Given the description of an element on the screen output the (x, y) to click on. 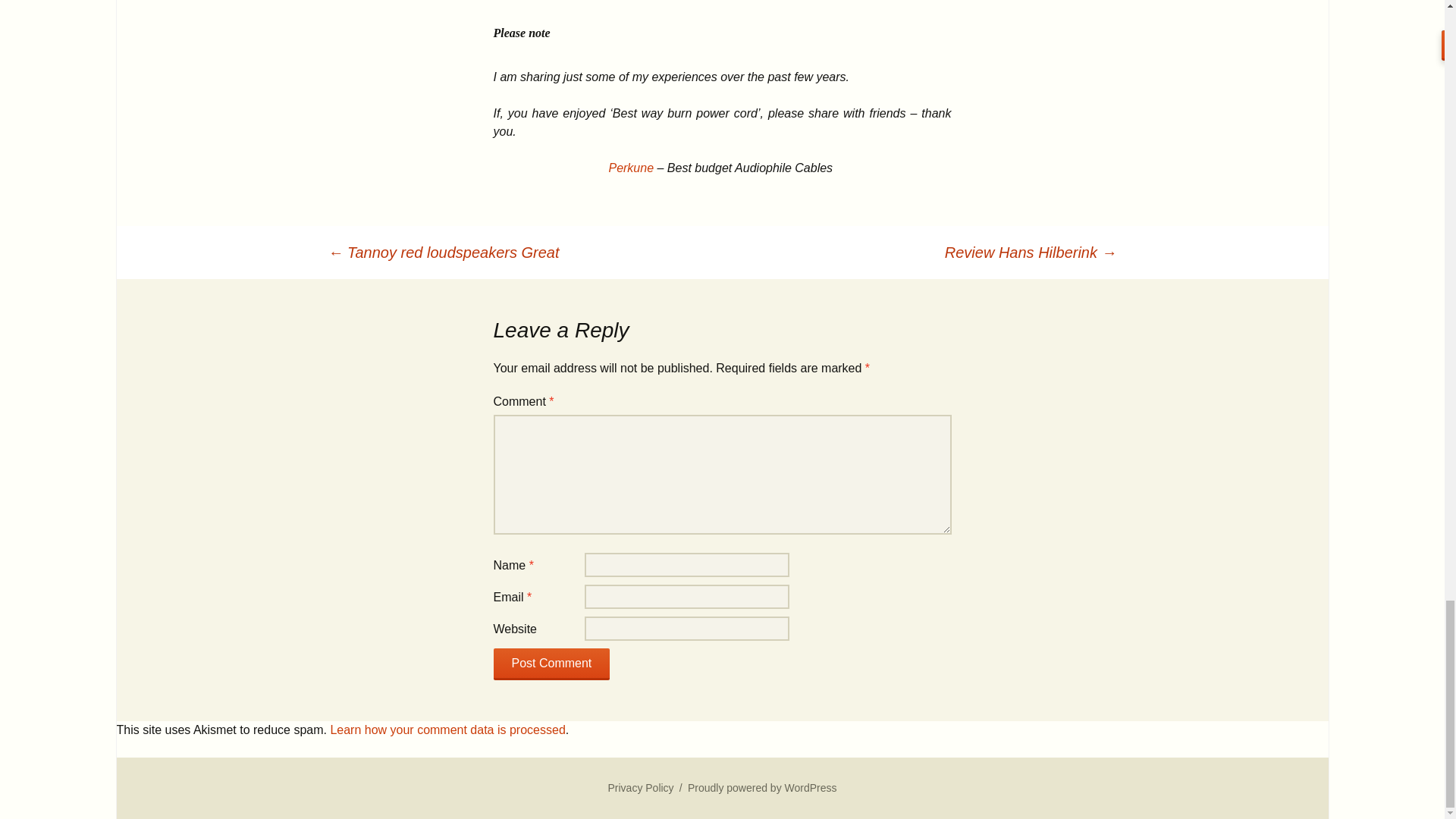
Post Comment (551, 664)
